Given the description of an element on the screen output the (x, y) to click on. 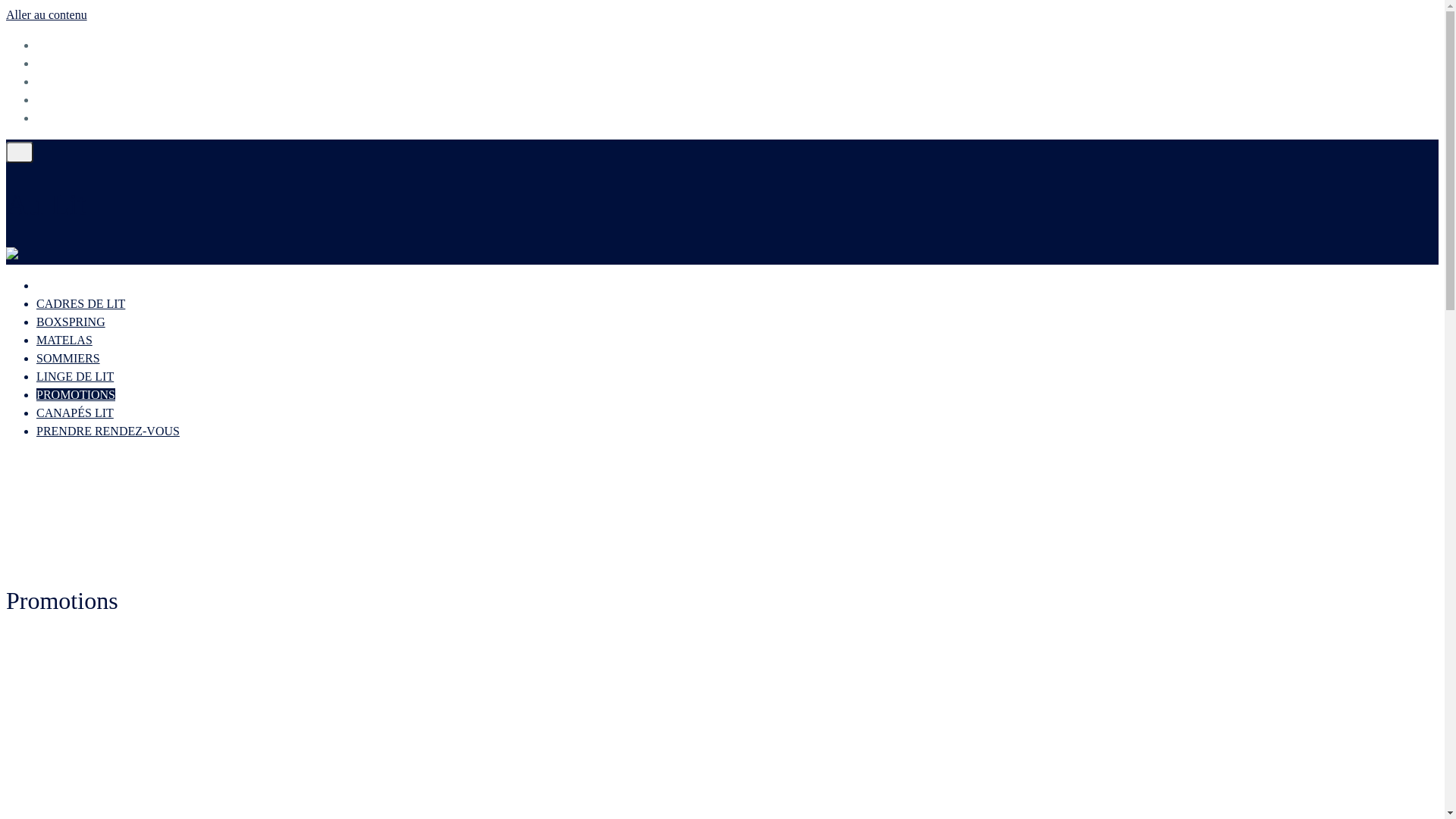
PRENDRE RENDEZ-VOUS Element type: text (107, 430)
MATELAS Element type: text (64, 339)
SOMMIERS Element type: text (68, 357)
BOXSPRING Element type: text (70, 321)
LINGE DE LIT Element type: text (74, 376)
CADRES DE LIT Element type: text (80, 303)
PROMOTIONS Element type: text (75, 394)
Promotions Element type: text (64, 44)
Magasin Element type: text (57, 99)
Conseils Element type: text (57, 62)
Aller au contenu Element type: text (46, 14)
Au Lit Element type: text (46, 204)
A Propos Element type: text (58, 81)
